Given the description of an element on the screen output the (x, y) to click on. 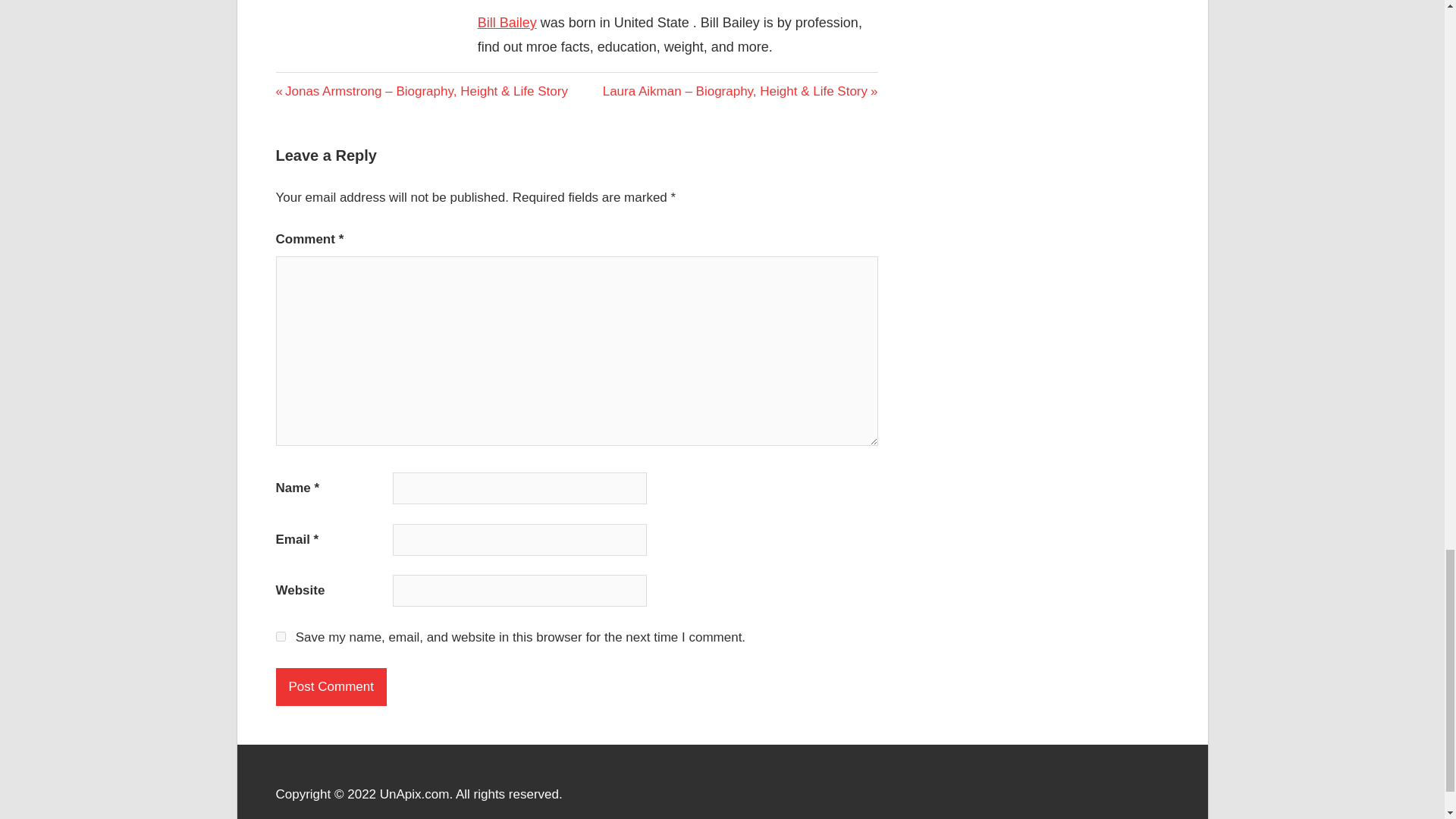
Post Comment (331, 686)
Bill Bailey (507, 22)
yes (280, 636)
Post Comment (331, 686)
BIO (289, 82)
BIOGRAPHIES (321, 85)
